Given the description of an element on the screen output the (x, y) to click on. 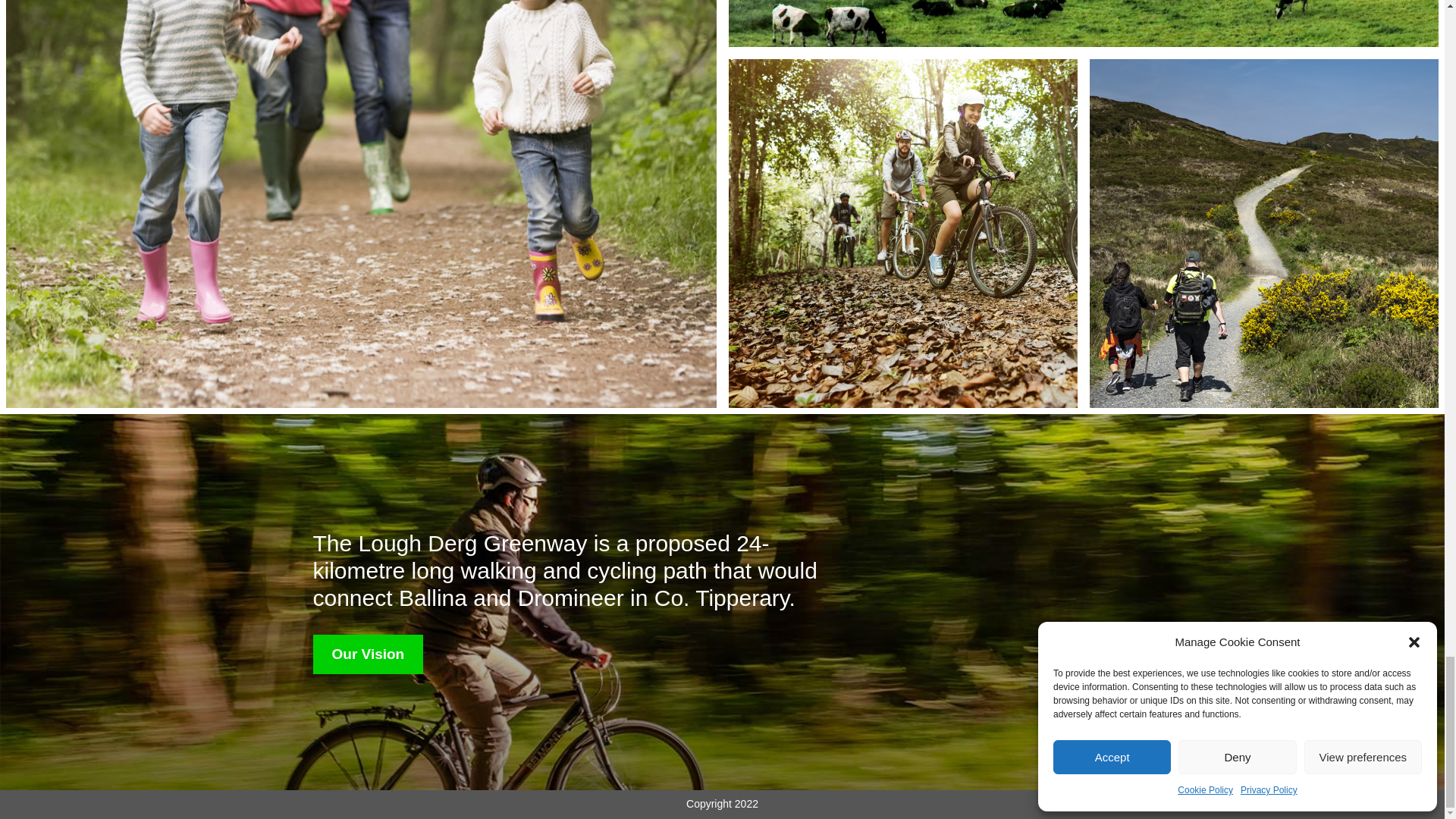
derg3 (902, 233)
Our Vision (368, 654)
